Given the description of an element on the screen output the (x, y) to click on. 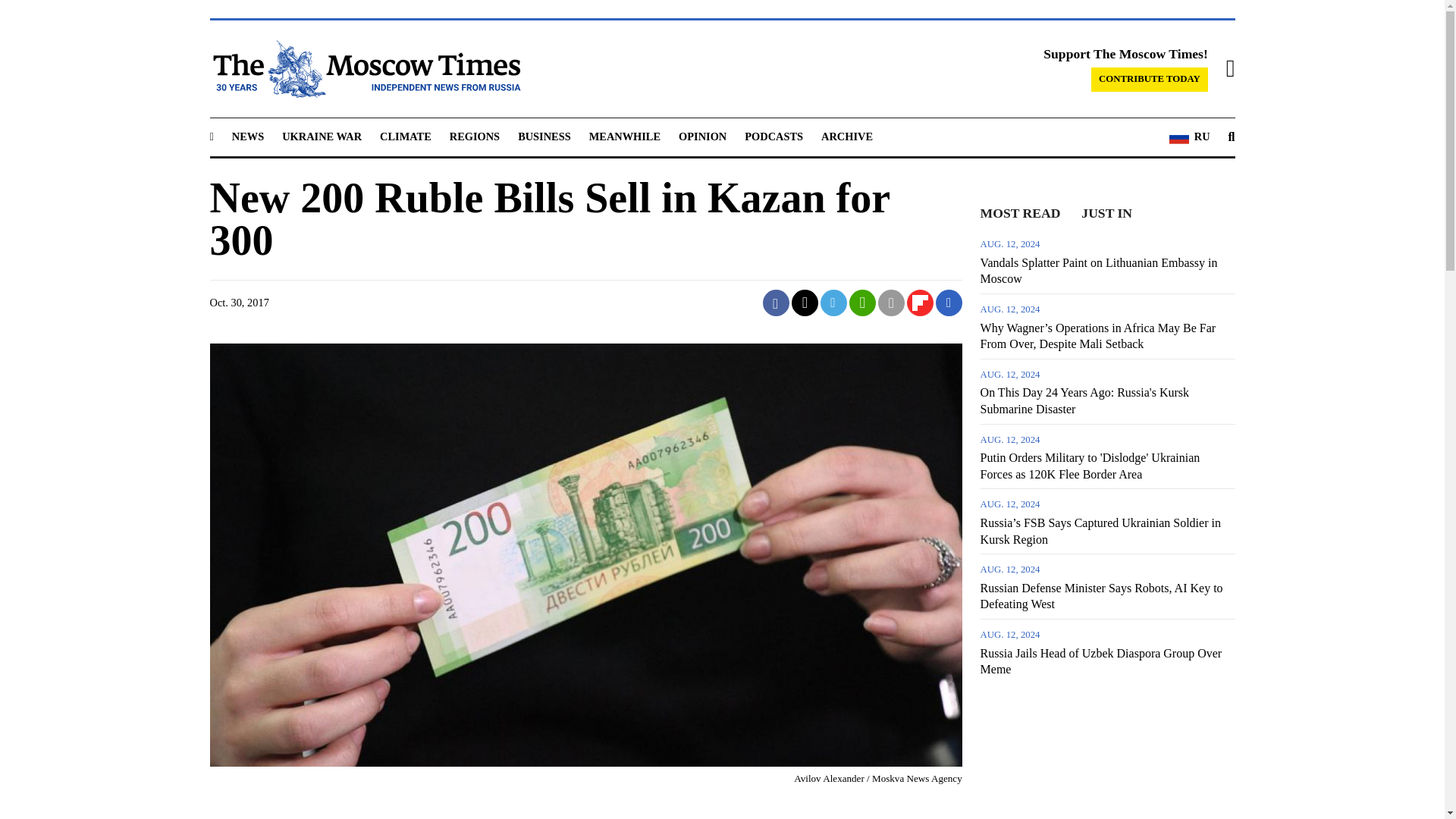
OPINION (702, 136)
ARCHIVE (846, 136)
Share on Twitter (805, 302)
CLIMATE (405, 136)
Share on Flipboard (920, 302)
RU (1189, 137)
Share on Telegram (834, 302)
CONTRIBUTE TODAY (1149, 79)
BUSINESS (544, 136)
UKRAINE WAR (321, 136)
